Given the description of an element on the screen output the (x, y) to click on. 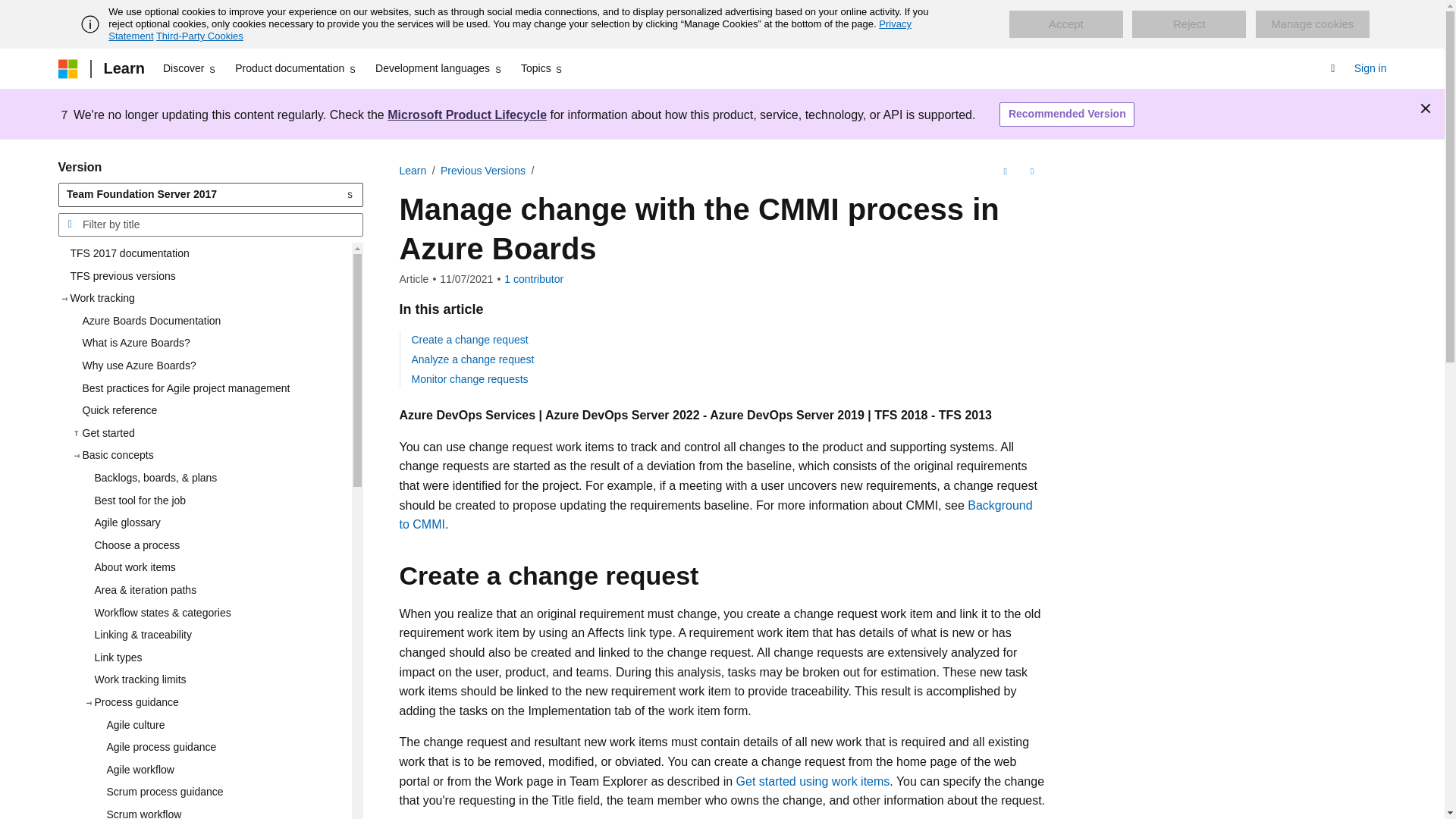
What is Azure Boards? (209, 343)
Development languages (438, 68)
Accept (1065, 23)
Topics (542, 68)
View all contributors (533, 278)
Sign in (1370, 68)
Azure Boards Documentation (209, 321)
TFS 2017 documentation (204, 253)
More actions (1031, 170)
Skip to main content (11, 11)
Microsoft Product Lifecycle (467, 114)
Dismiss alert (1425, 108)
Discover (189, 68)
Manage cookies (1312, 23)
Learn (123, 68)
